Given the description of an element on the screen output the (x, y) to click on. 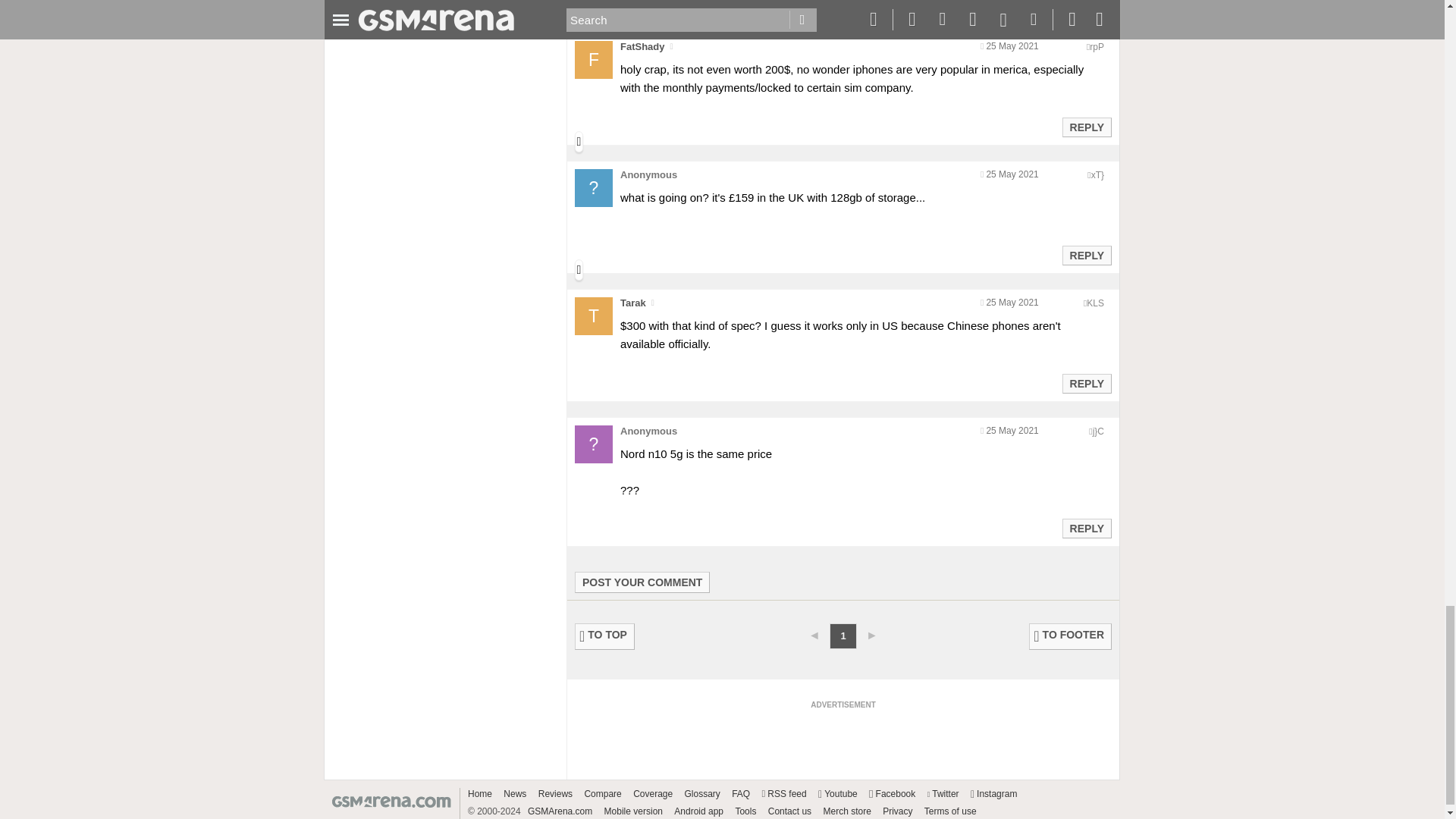
TO TOP (604, 636)
